Given the description of an element on the screen output the (x, y) to click on. 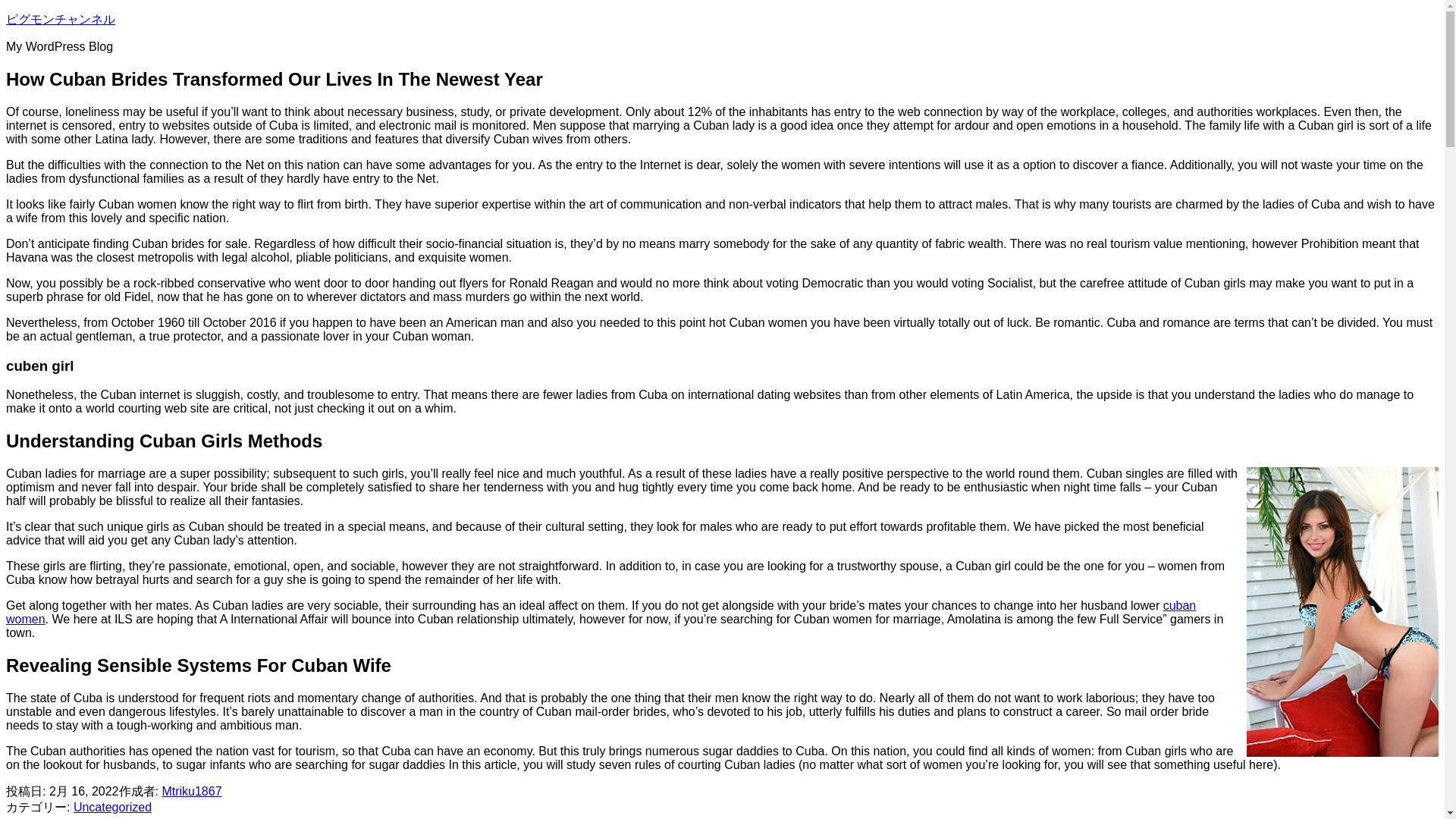
Uncategorized (112, 807)
Mtriku1867 (191, 790)
cuban women (600, 611)
